Given the description of an element on the screen output the (x, y) to click on. 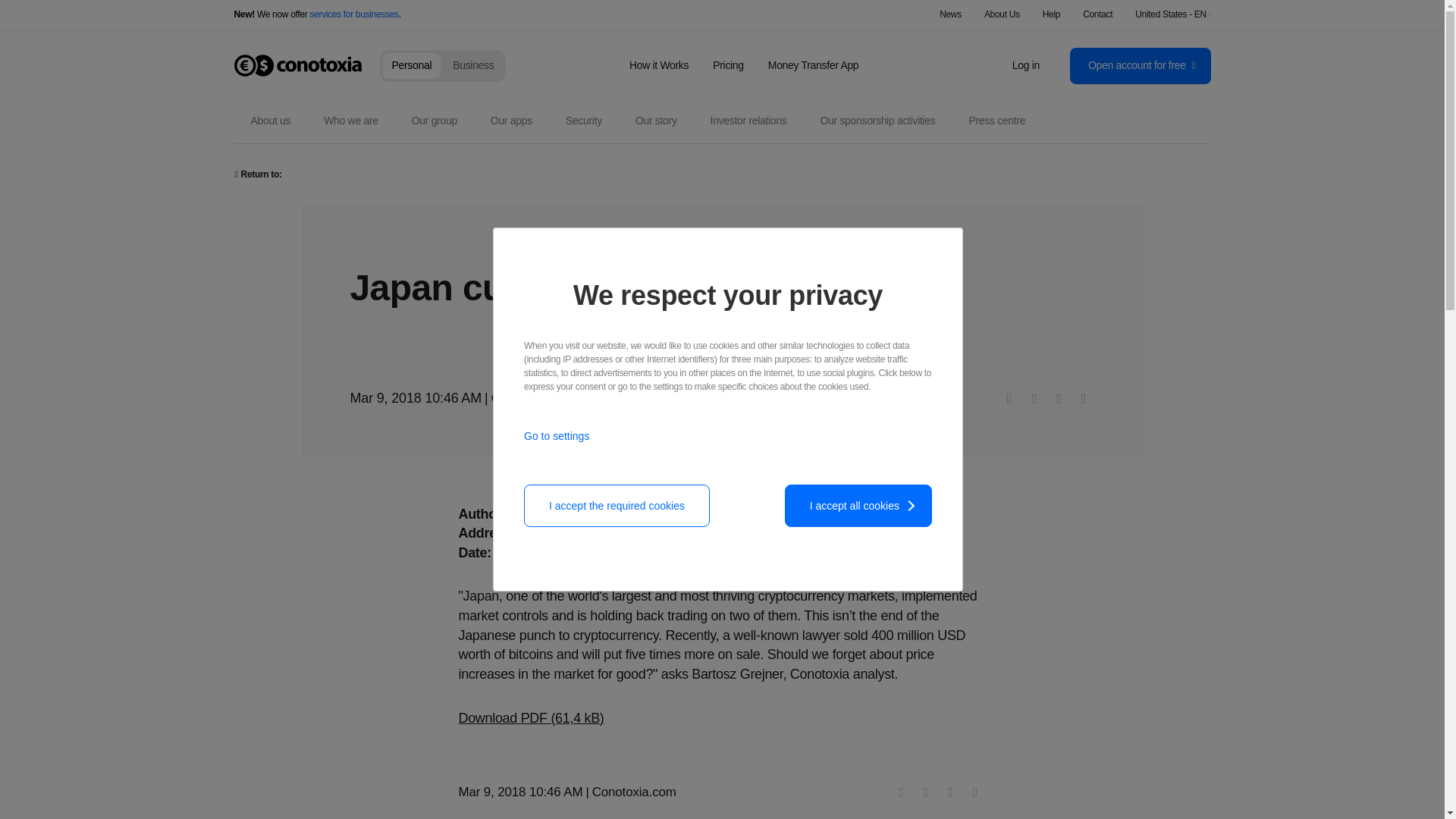
Who we are (350, 121)
About Us (1002, 14)
Security (584, 121)
Our apps (511, 121)
Money Transfer App (813, 64)
Our story (655, 121)
Press centre (996, 121)
How it Works (658, 64)
Log in (1025, 65)
Investor relations (749, 121)
About us (270, 121)
News (949, 14)
Return to: (258, 173)
services for businesses (352, 14)
Open account for free (1140, 65)
